Given the description of an element on the screen output the (x, y) to click on. 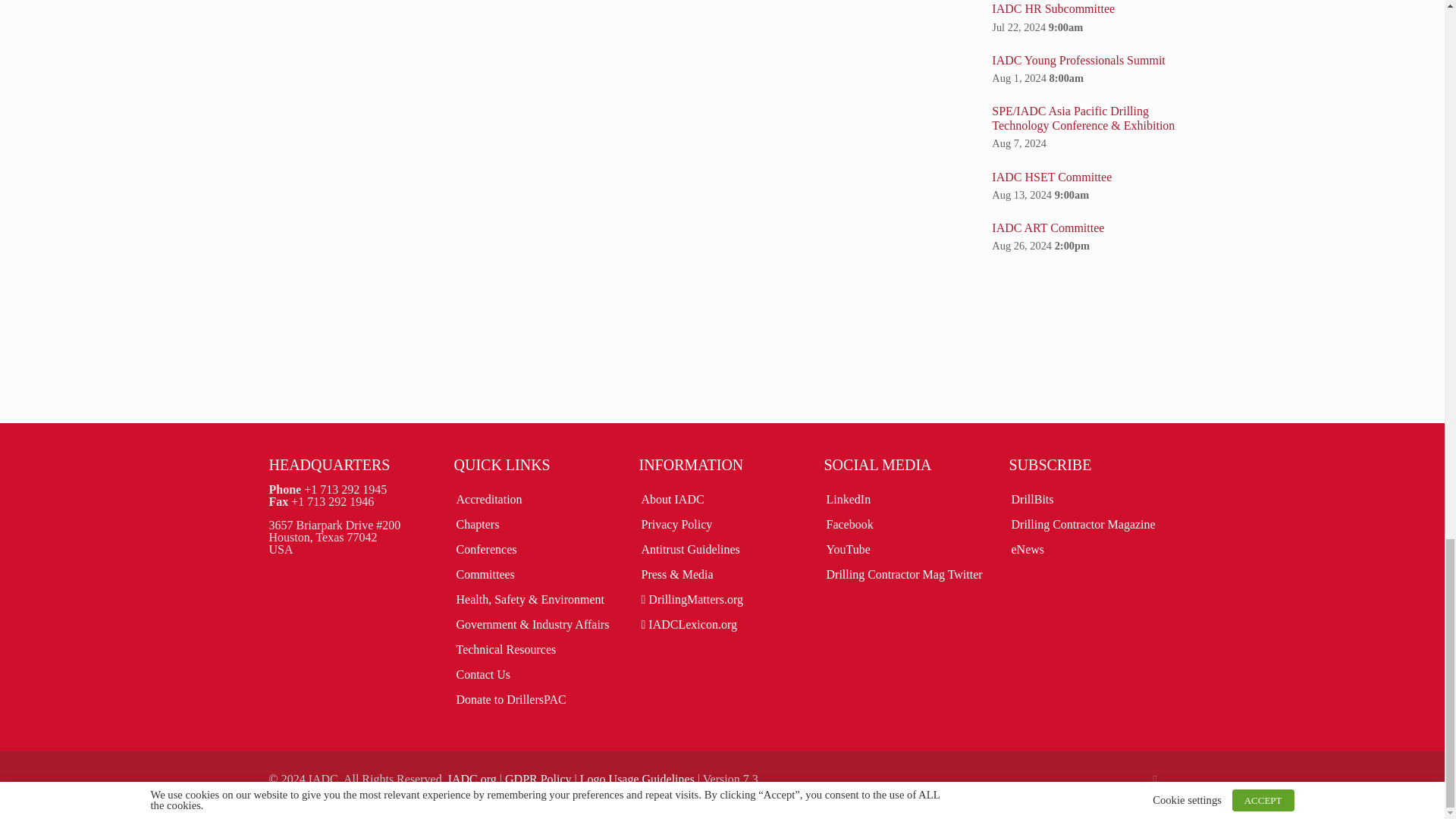
RSS (1155, 779)
International Association of Drilling Contractors (472, 779)
